Given the description of an element on the screen output the (x, y) to click on. 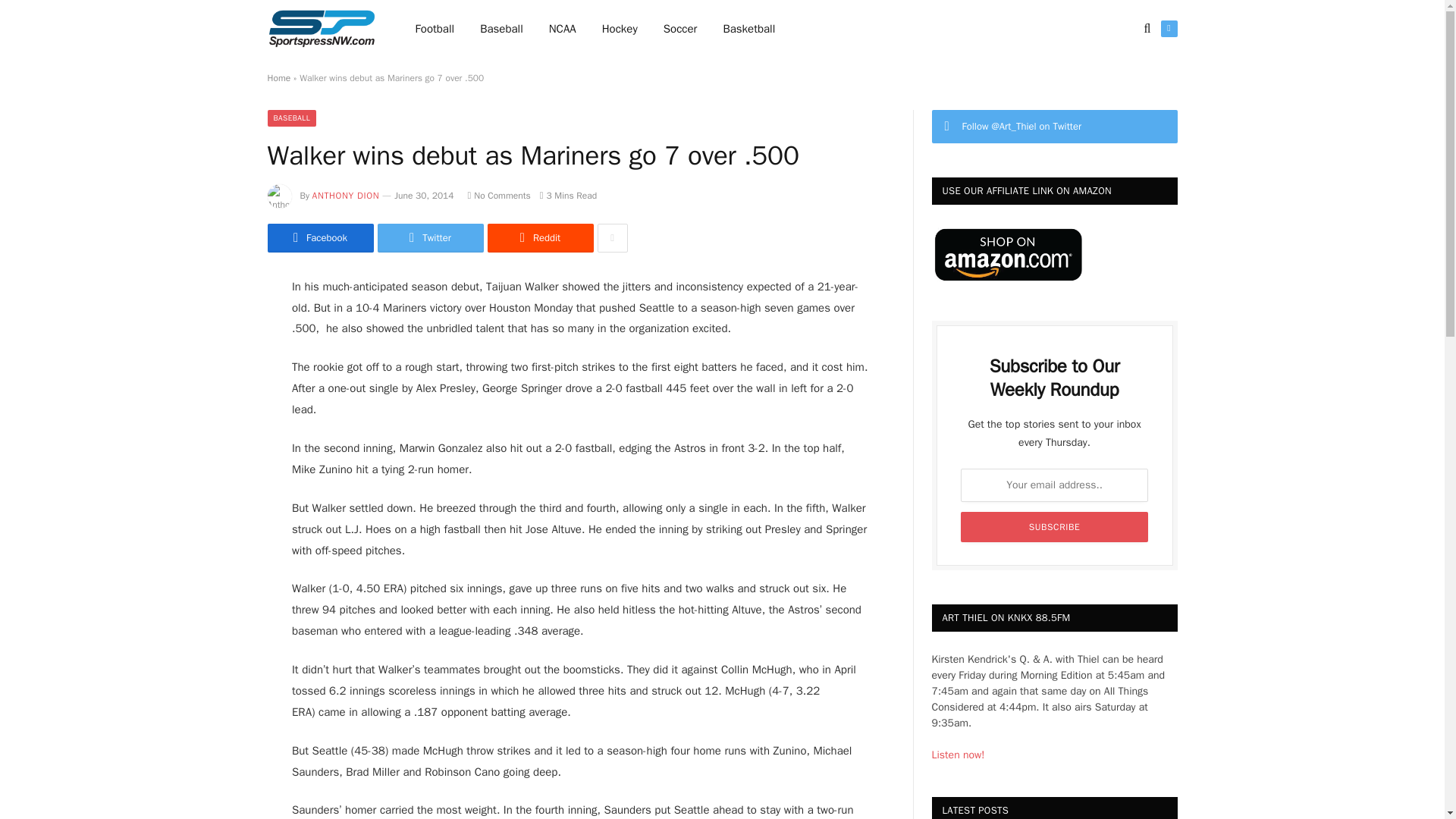
Share on Twitter (319, 237)
Football (435, 28)
Share on Reddit (539, 237)
NCAA (562, 28)
Twitter (430, 237)
Twitter (1168, 28)
Hockey (619, 28)
Soccer (680, 28)
Posts by Anthony Dion (346, 195)
Basketball (748, 28)
